Given the description of an element on the screen output the (x, y) to click on. 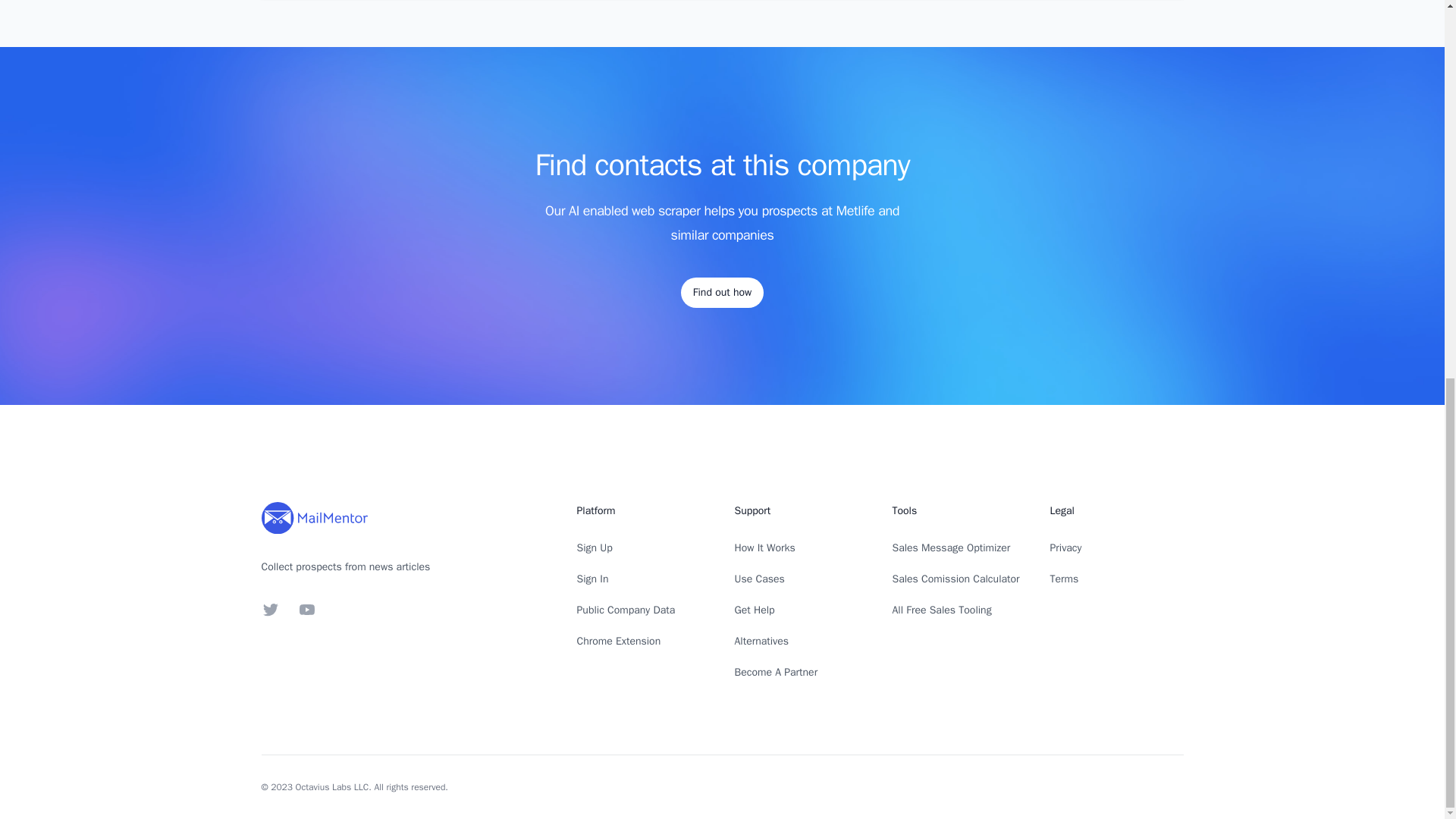
Use Cases (758, 578)
Octavius Labs LLC (332, 787)
Alternatives (761, 640)
Find out how (721, 292)
Get Help (753, 609)
Sign In (592, 578)
Sales Message Optimizer (950, 547)
Privacy (1065, 547)
Chrome Extension (618, 640)
YouTube (306, 609)
